Given the description of an element on the screen output the (x, y) to click on. 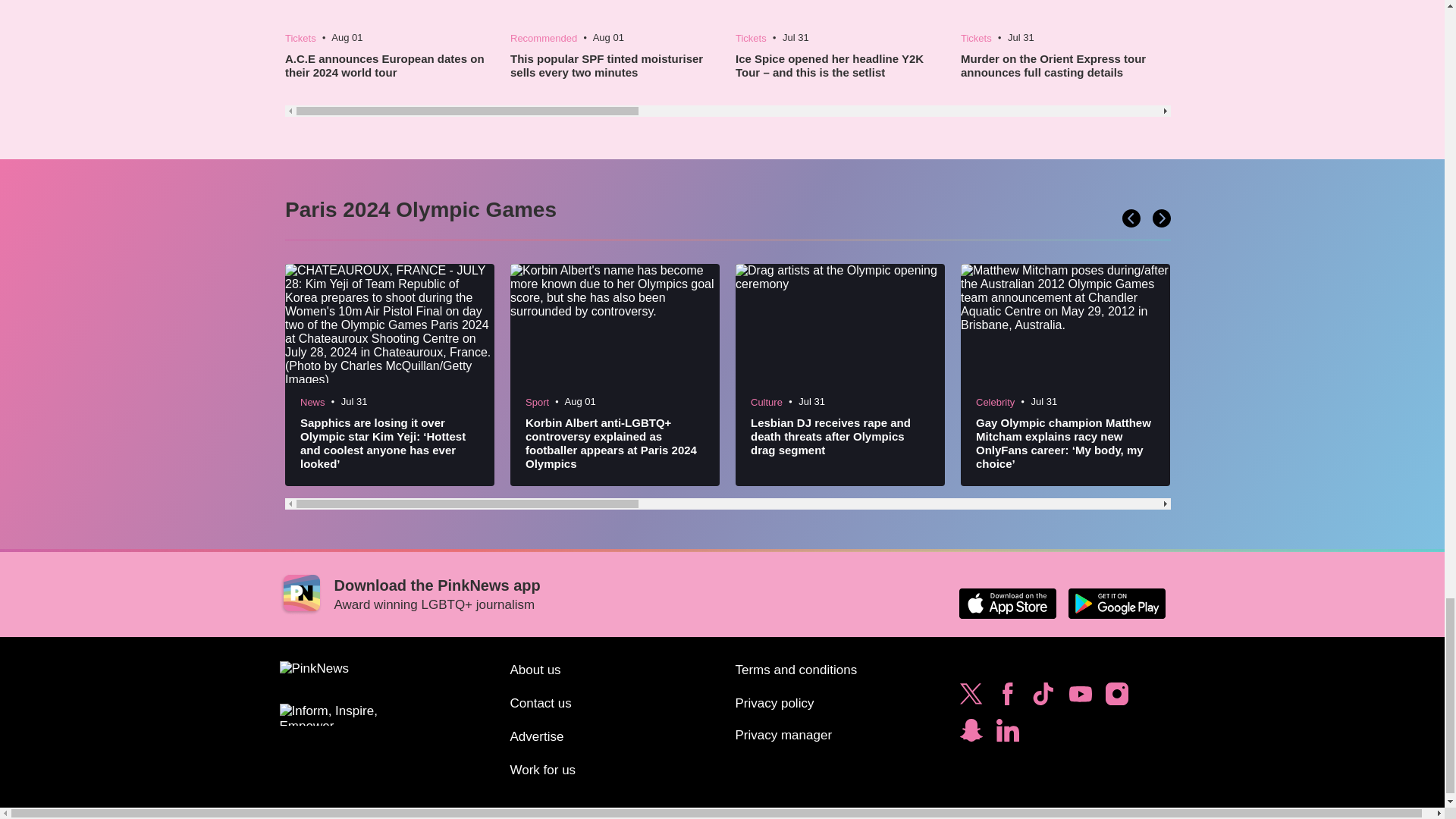
Follow PinkNews on TikTok (1042, 697)
Download the PinkNews app on Google Play (1115, 603)
Subscribe to PinkNews on YouTube (1079, 697)
Download the PinkNews app on the Apple App Store (1006, 603)
Follow PinkNews on Instagram (1116, 697)
Follow PinkNews on LinkedIn (1007, 733)
Follow PinkNews on Twitter (970, 697)
Subscribe to PinkNews on Snapchat (970, 733)
